Given the description of an element on the screen output the (x, y) to click on. 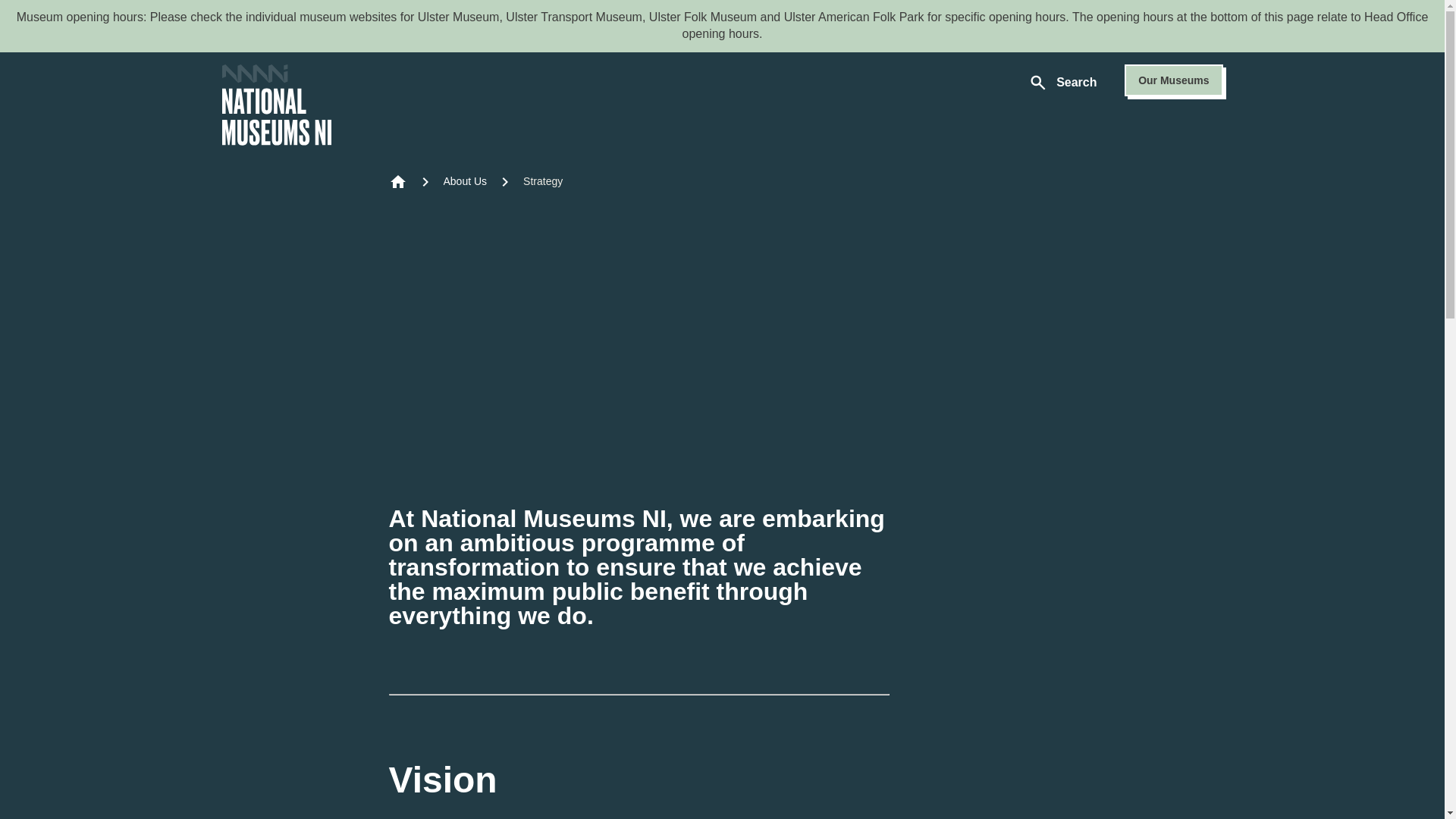
Home (275, 104)
About Us (464, 181)
Search (1062, 85)
Our Museums (1173, 80)
